Given the description of an element on the screen output the (x, y) to click on. 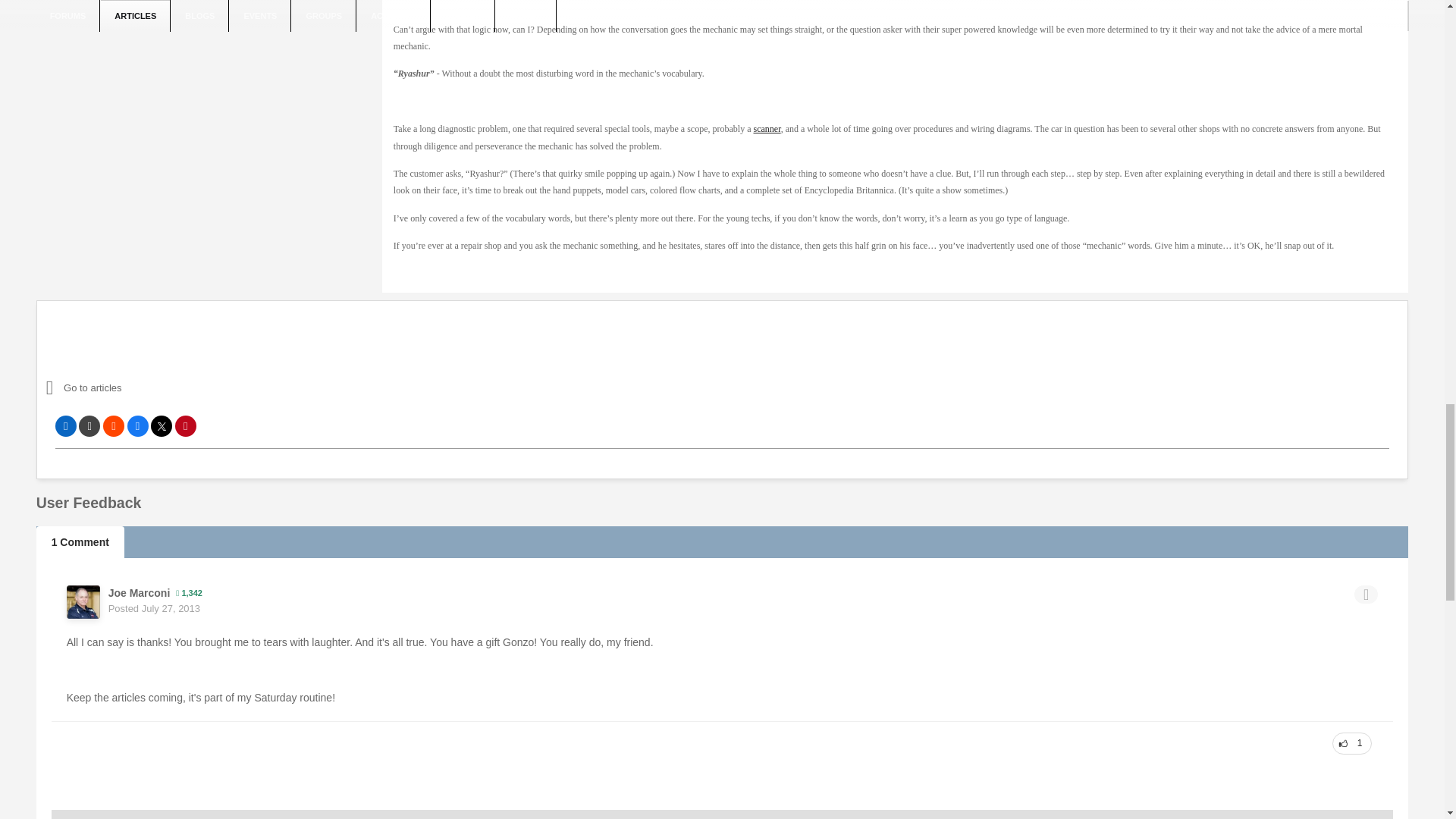
Share on LinkedIn (66, 425)
Share via email (89, 425)
Go to Gonzo's Tool Box (178, 388)
Share on Reddit (113, 425)
